Given the description of an element on the screen output the (x, y) to click on. 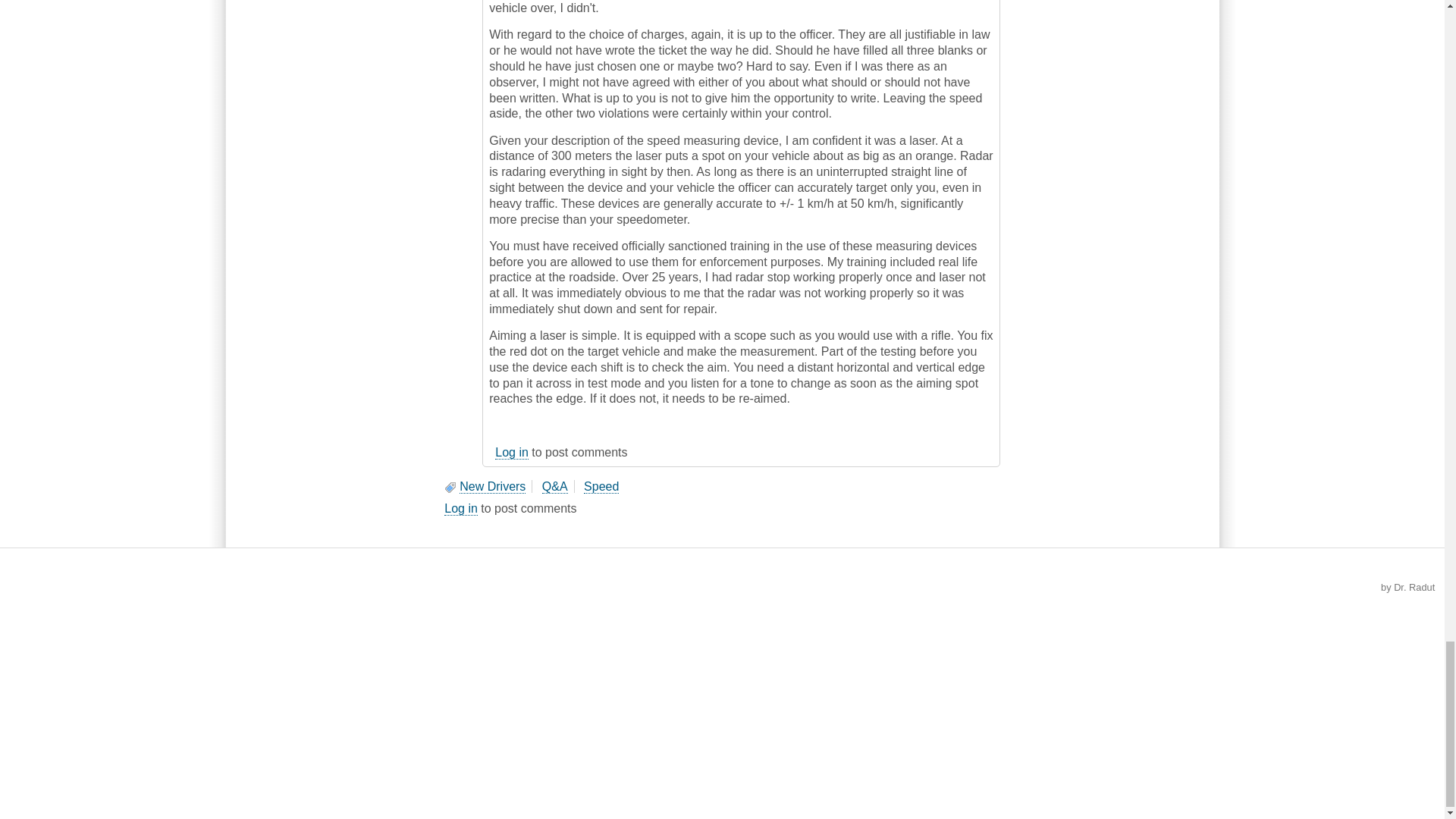
by Dr. Radut (1407, 586)
